Given the description of an element on the screen output the (x, y) to click on. 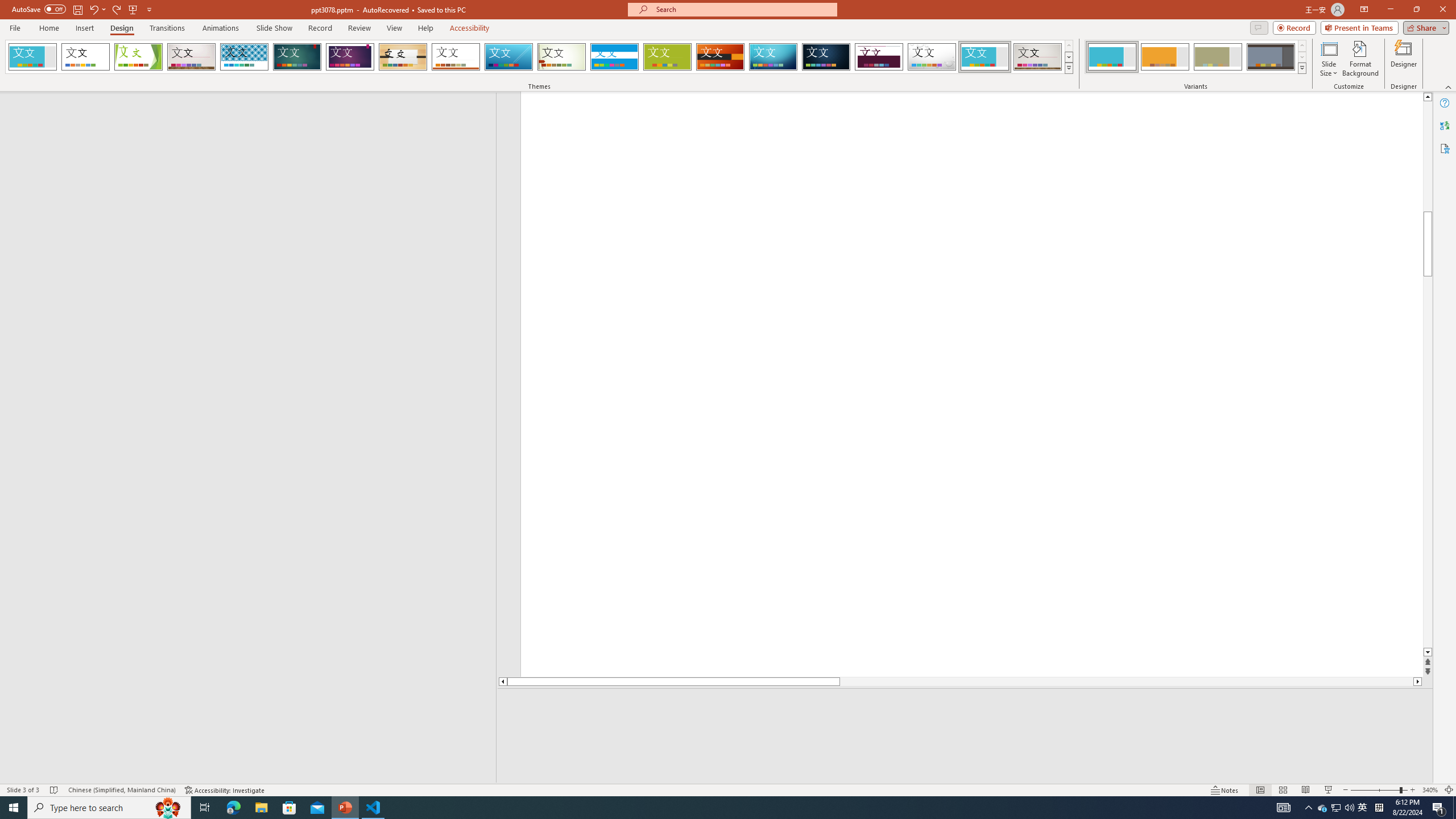
Frame Variant 2 (1164, 56)
Integral (244, 56)
Damask (826, 56)
Slice (508, 56)
Ion (296, 56)
TextBox 7 (1417, 163)
Banded (614, 56)
